Given the description of an element on the screen output the (x, y) to click on. 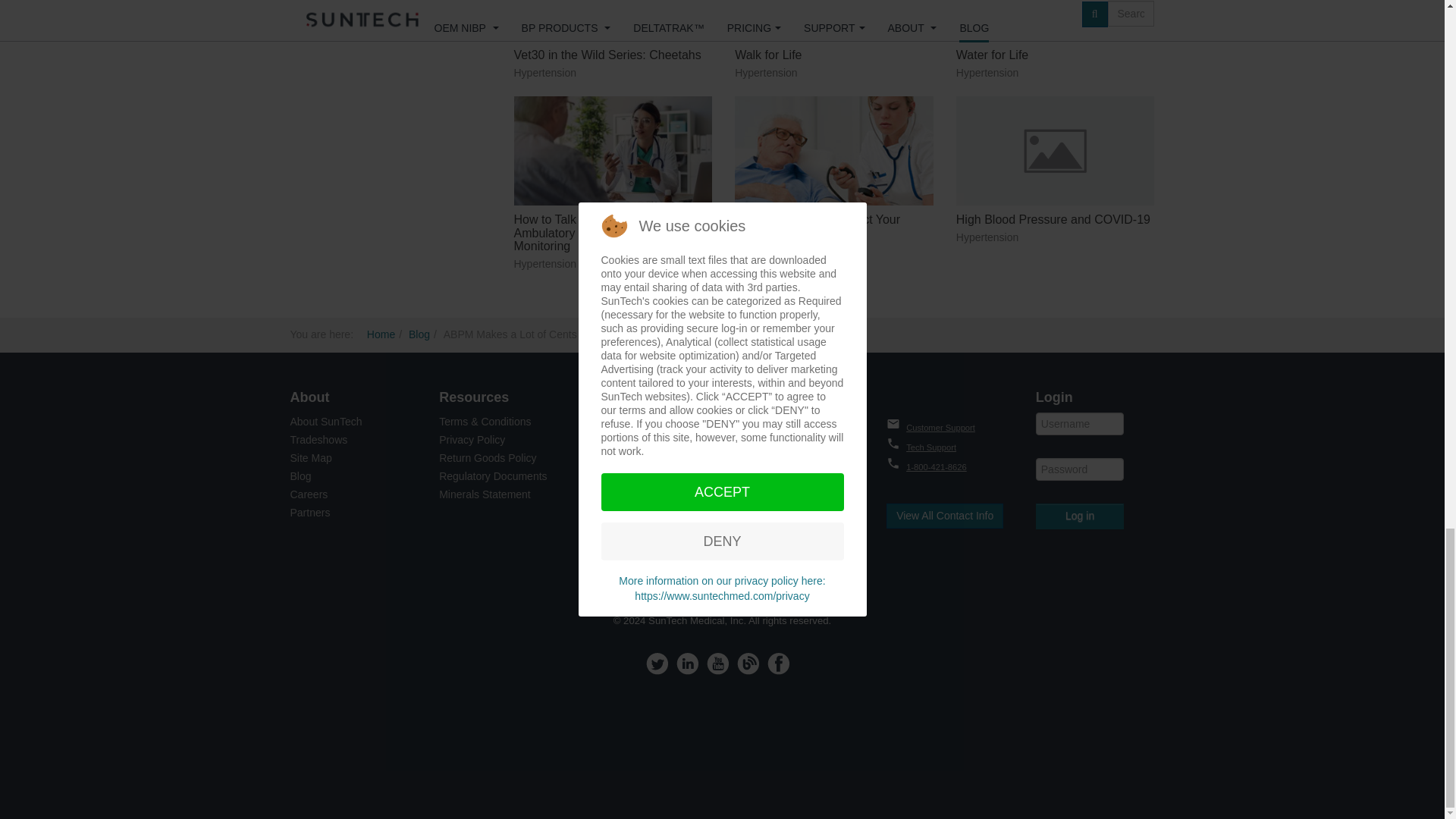
Site Map (310, 458)
Tradeshows (318, 439)
About SunTech (325, 421)
Careers (308, 494)
Partners (309, 512)
